Given the description of an element on the screen output the (x, y) to click on. 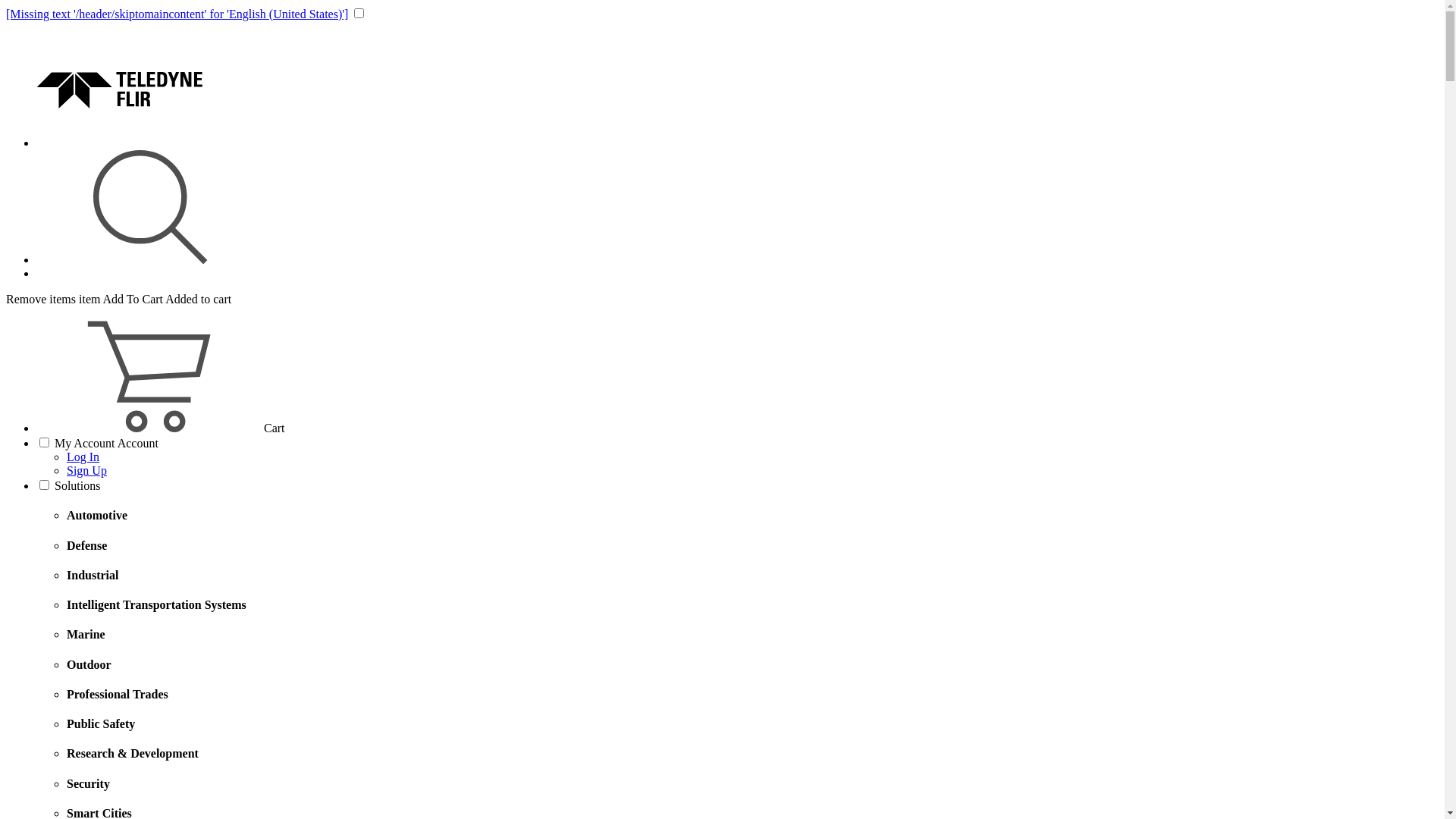
CartCart Element type: text (160, 427)
Sign Up Element type: text (86, 470)
Logo Element type: text (149, 142)
Log In Element type: text (82, 456)
Account Element type: text (137, 442)
